Given the description of an element on the screen output the (x, y) to click on. 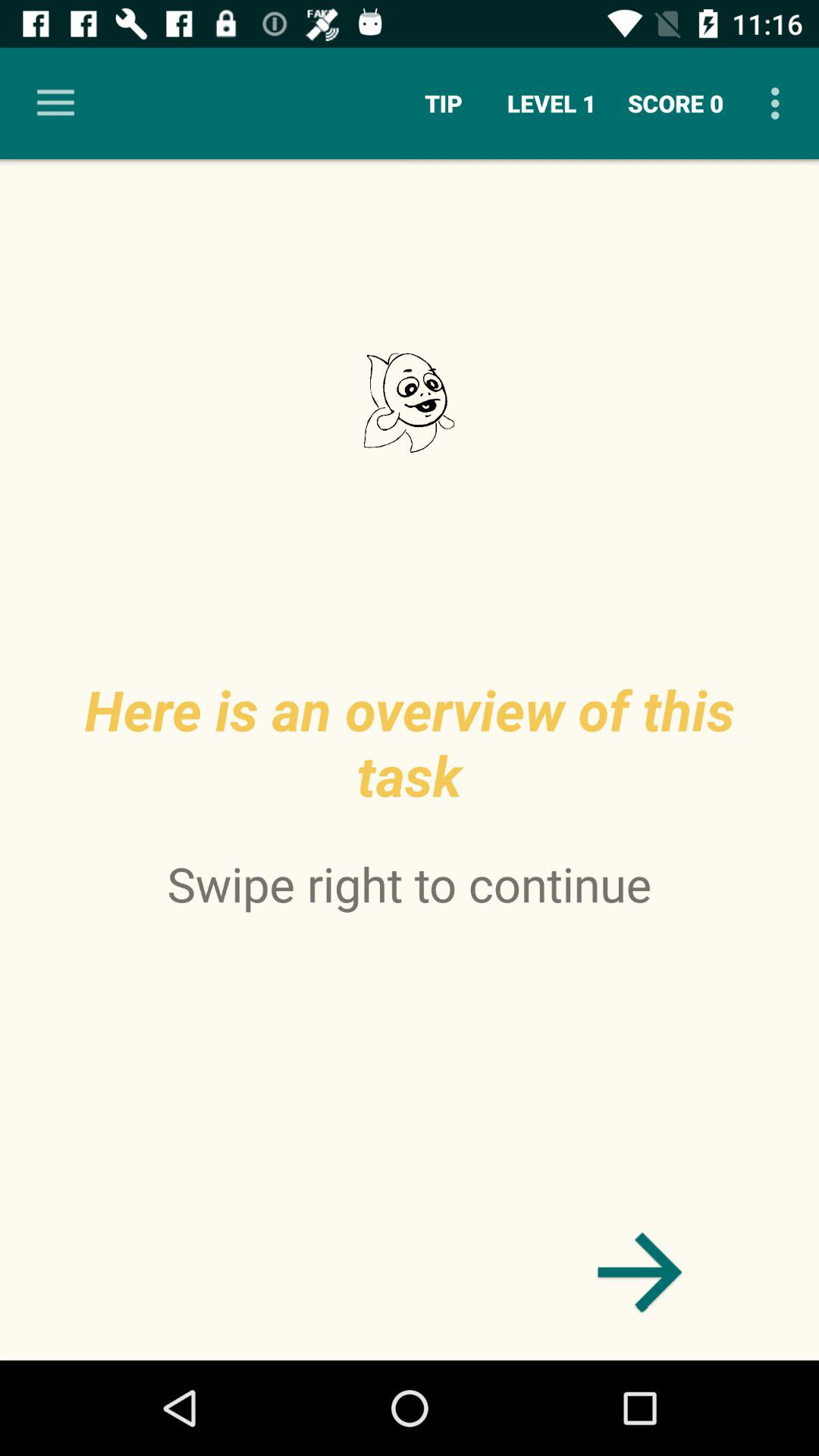
launch the icon next to score 0 (779, 103)
